Given the description of an element on the screen output the (x, y) to click on. 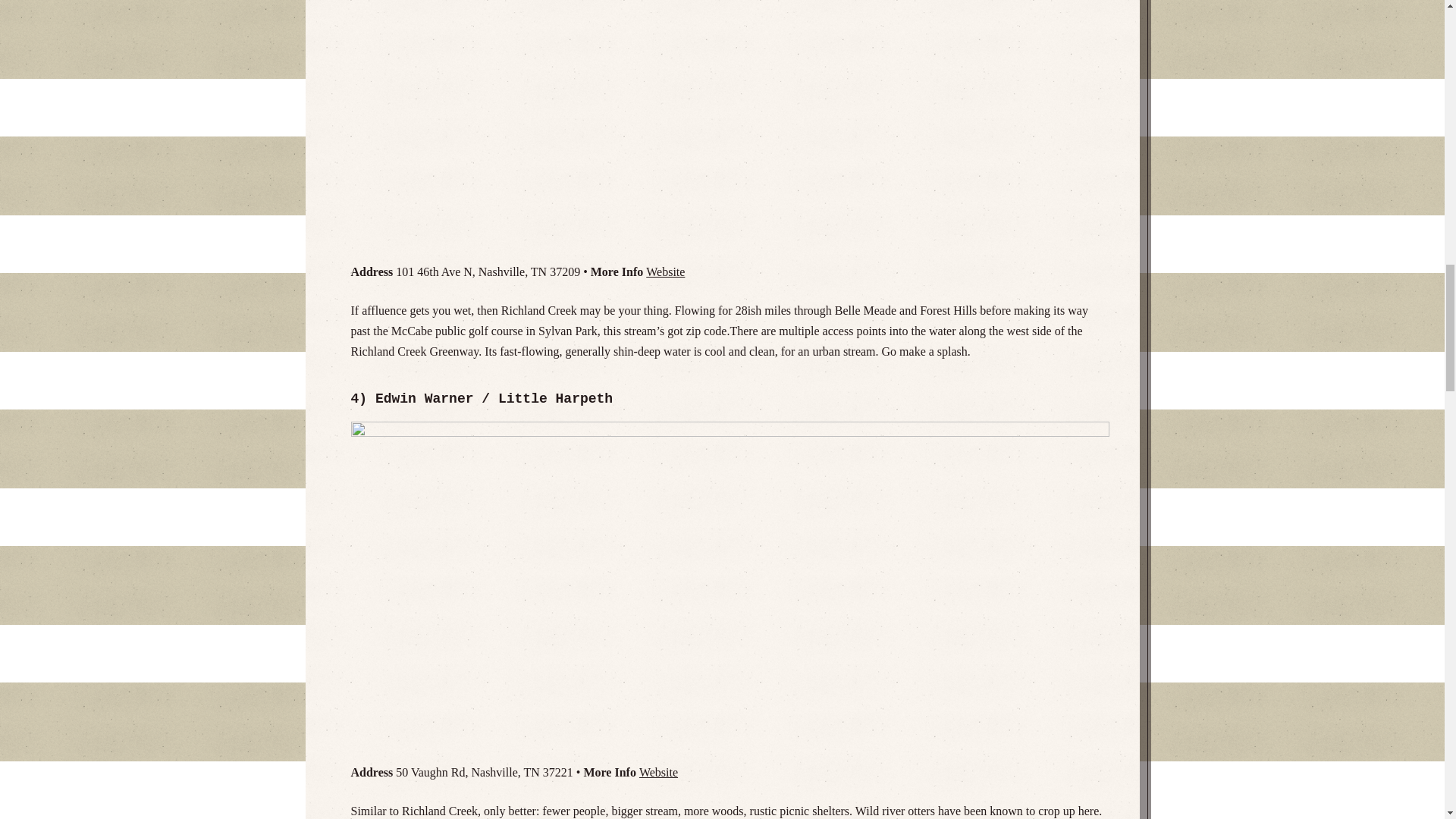
Website (658, 771)
Website (665, 271)
